Given the description of an element on the screen output the (x, y) to click on. 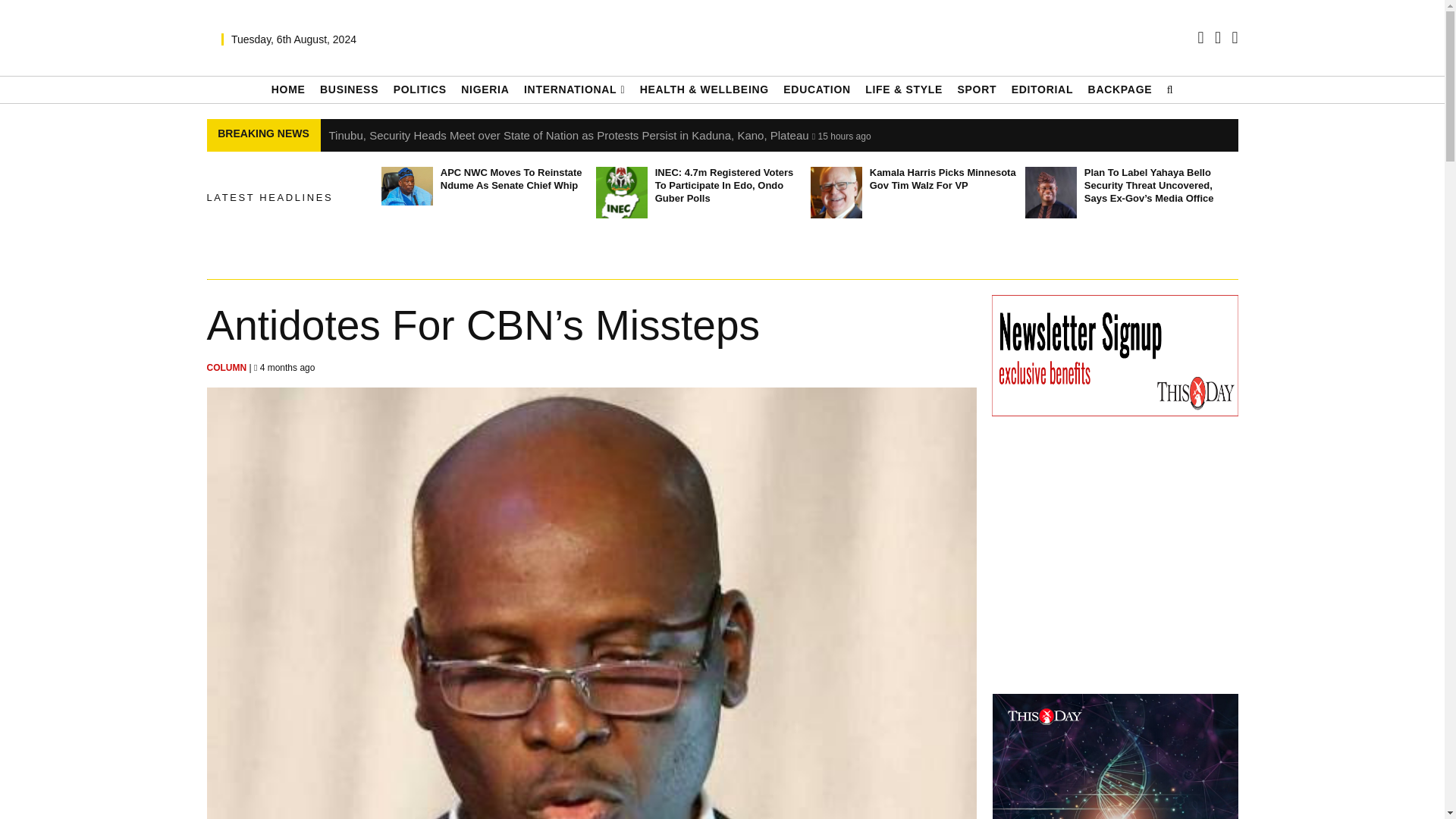
NIGERIA (484, 89)
HOME (287, 89)
POLITICS (419, 89)
Kamala Harris Picks Minnesota Gov Tim Walz for VP (835, 192)
BUSINESS (349, 89)
SPORT (975, 89)
APC NWC Moves to Reinstate Ndume as Senate Chief Whip (406, 186)
EDUCATION (816, 89)
EDITORIAL (1042, 89)
